Given the description of an element on the screen output the (x, y) to click on. 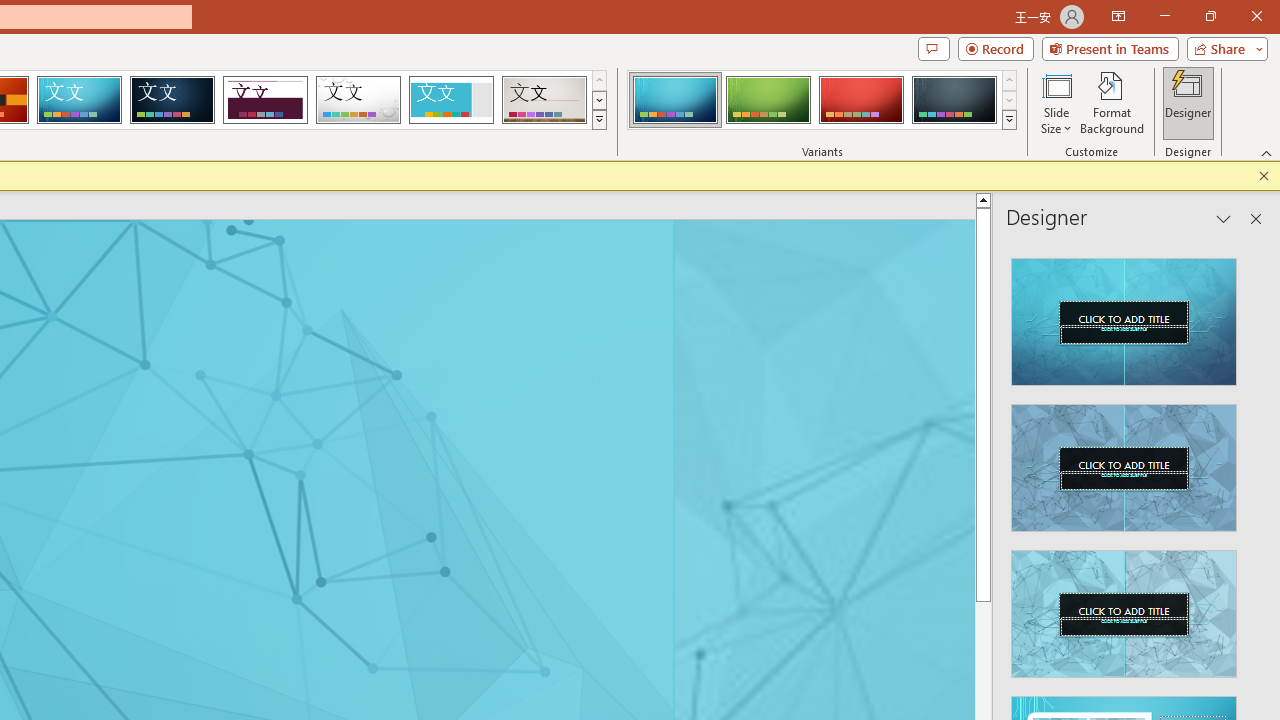
Droplet (358, 100)
Circuit (79, 100)
Circuit Variant 1 (674, 100)
Variants (1009, 120)
Circuit Variant 3 (861, 100)
Circuit Variant 4 (953, 100)
Themes (598, 120)
Damask (171, 100)
